Given the description of an element on the screen output the (x, y) to click on. 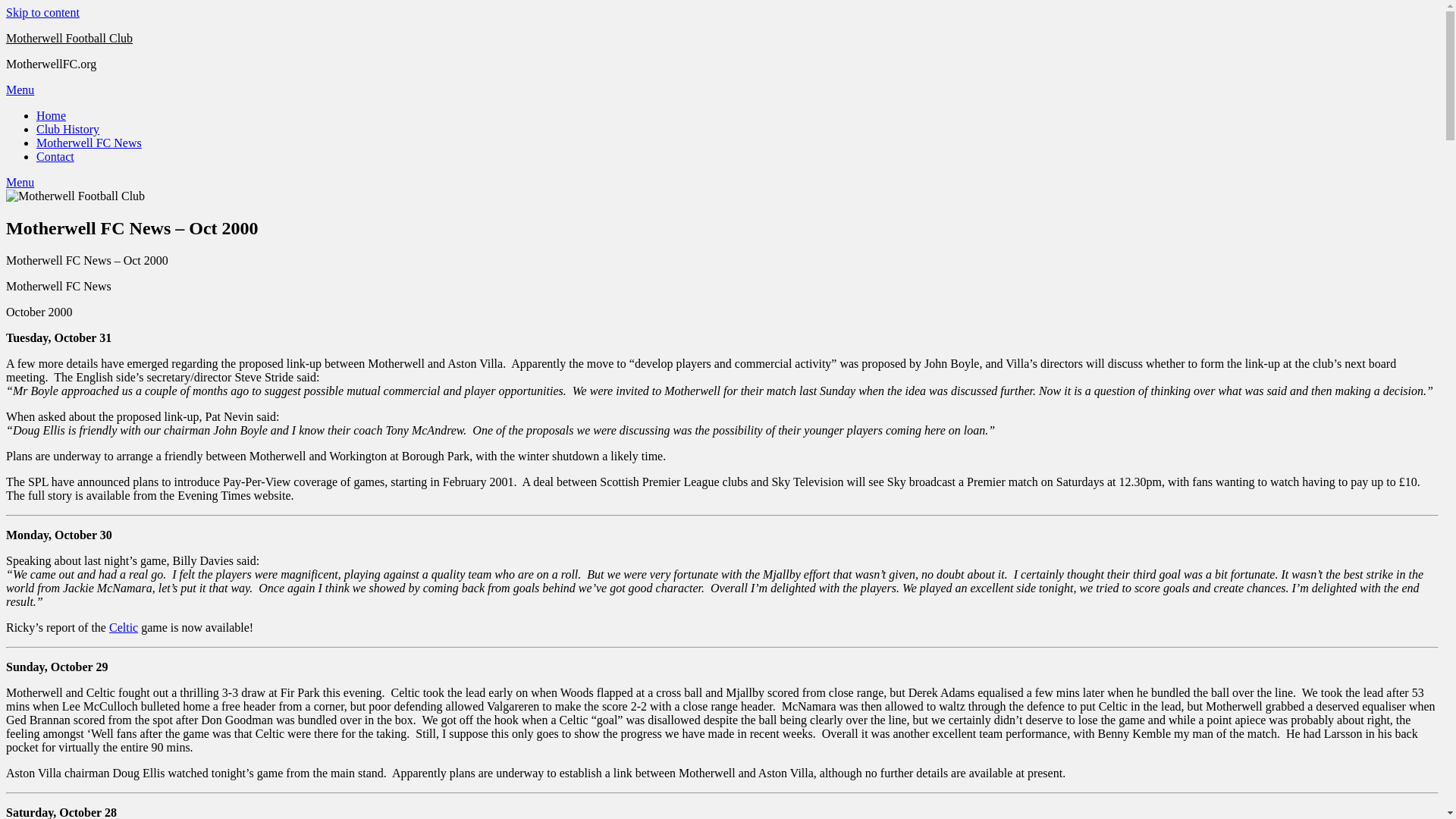
Menu (19, 89)
Motherwell FC News (88, 142)
Contact (55, 155)
Home (50, 115)
Motherwell Football Club (68, 38)
Celtic (123, 626)
Skip to content (42, 11)
Menu (19, 182)
Club History (67, 128)
